Given the description of an element on the screen output the (x, y) to click on. 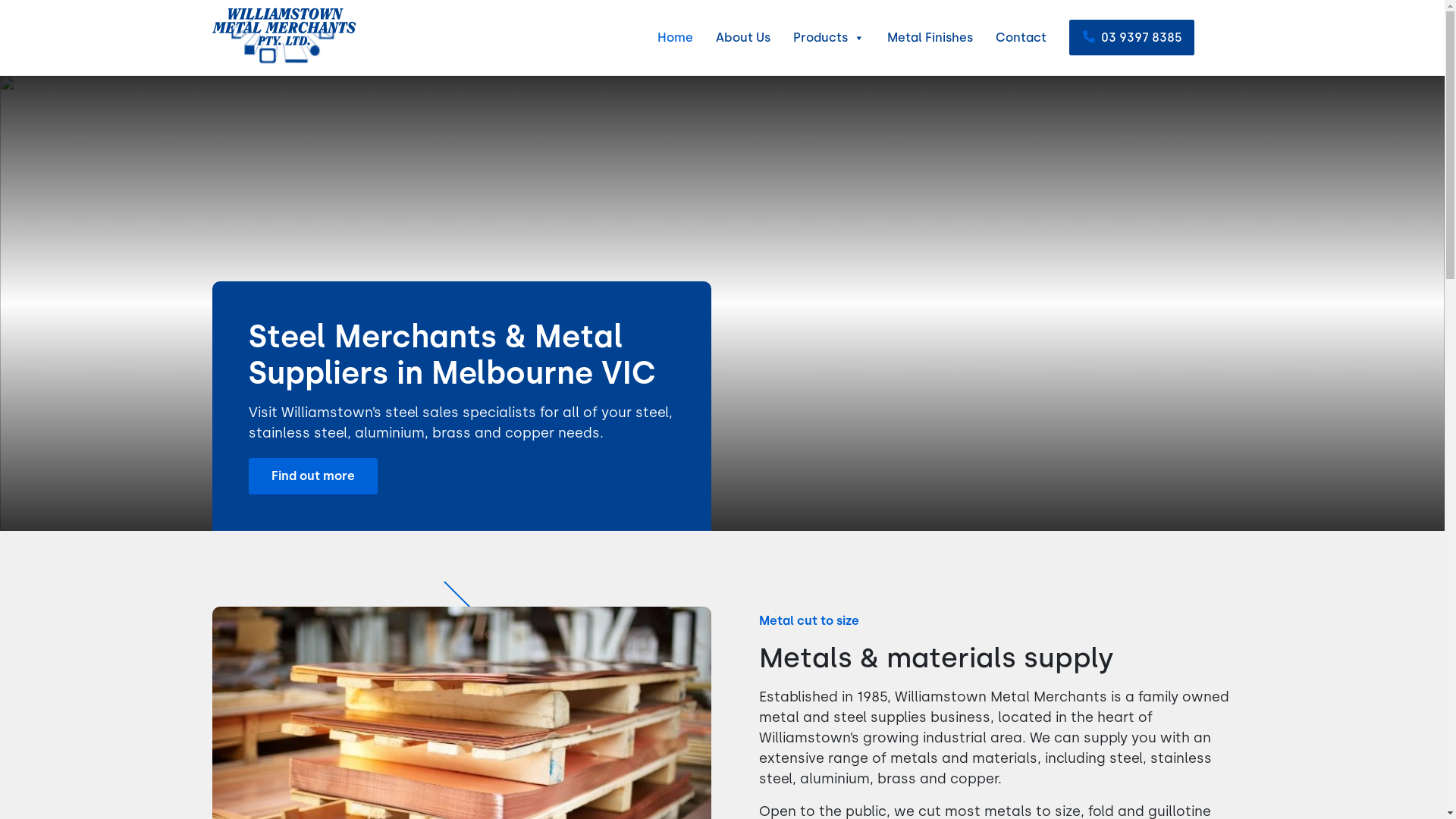
Contact Element type: text (1020, 37)
Find out more Element type: text (312, 476)
03 9397 8385 Element type: text (1131, 37)
Home Element type: text (675, 37)
Products Element type: text (828, 37)
Metal Finishes Element type: text (929, 37)
About Us Element type: text (742, 37)
